Given the description of an element on the screen output the (x, y) to click on. 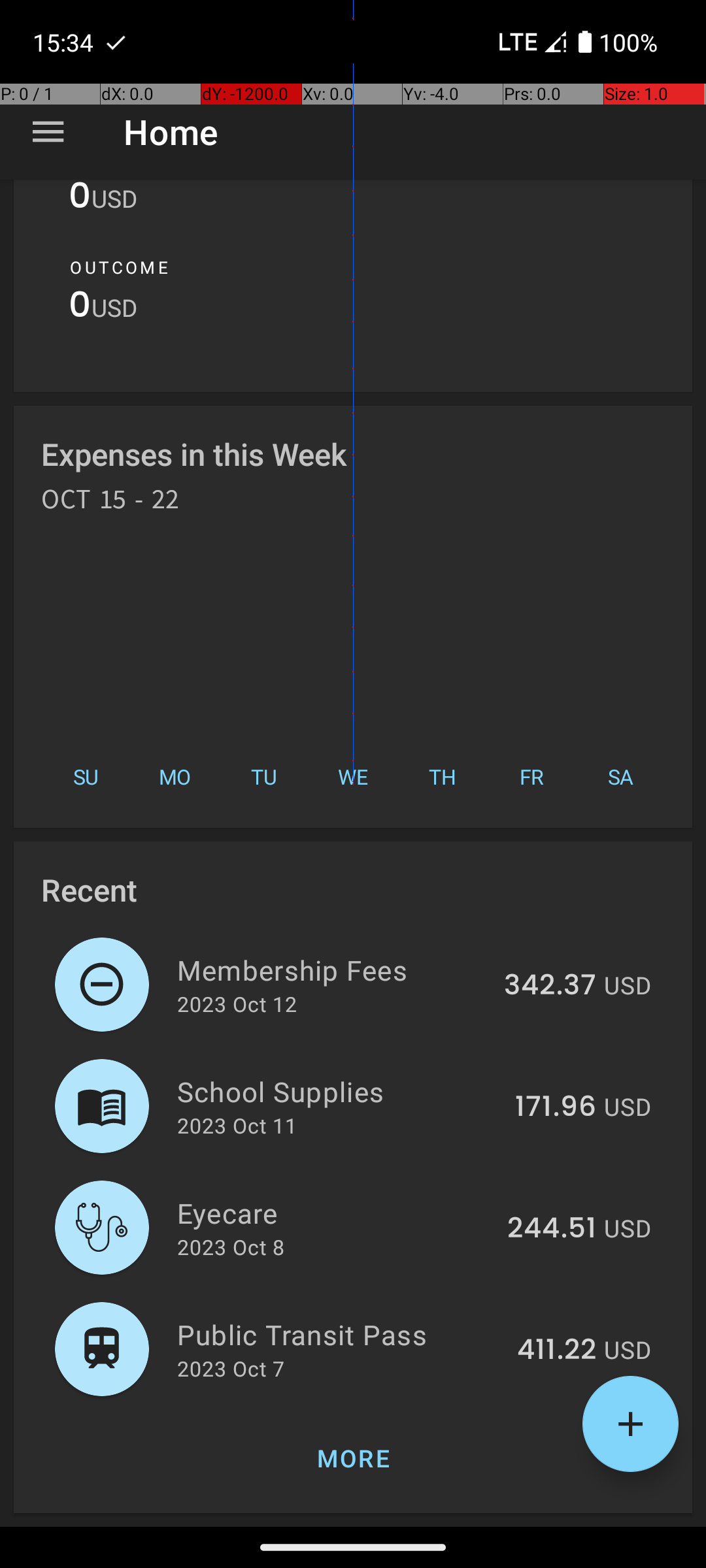
342.37 Element type: android.widget.TextView (549, 985)
School Supplies Element type: android.widget.TextView (338, 1091)
171.96 Element type: android.widget.TextView (555, 1106)
Eyecare Element type: android.widget.TextView (334, 1212)
244.51 Element type: android.widget.TextView (551, 1228)
Public Transit Pass Element type: android.widget.TextView (339, 1334)
2023 Oct 7 Element type: android.widget.TextView (230, 1368)
411.22 Element type: android.widget.TextView (556, 1350)
